Given the description of an element on the screen output the (x, y) to click on. 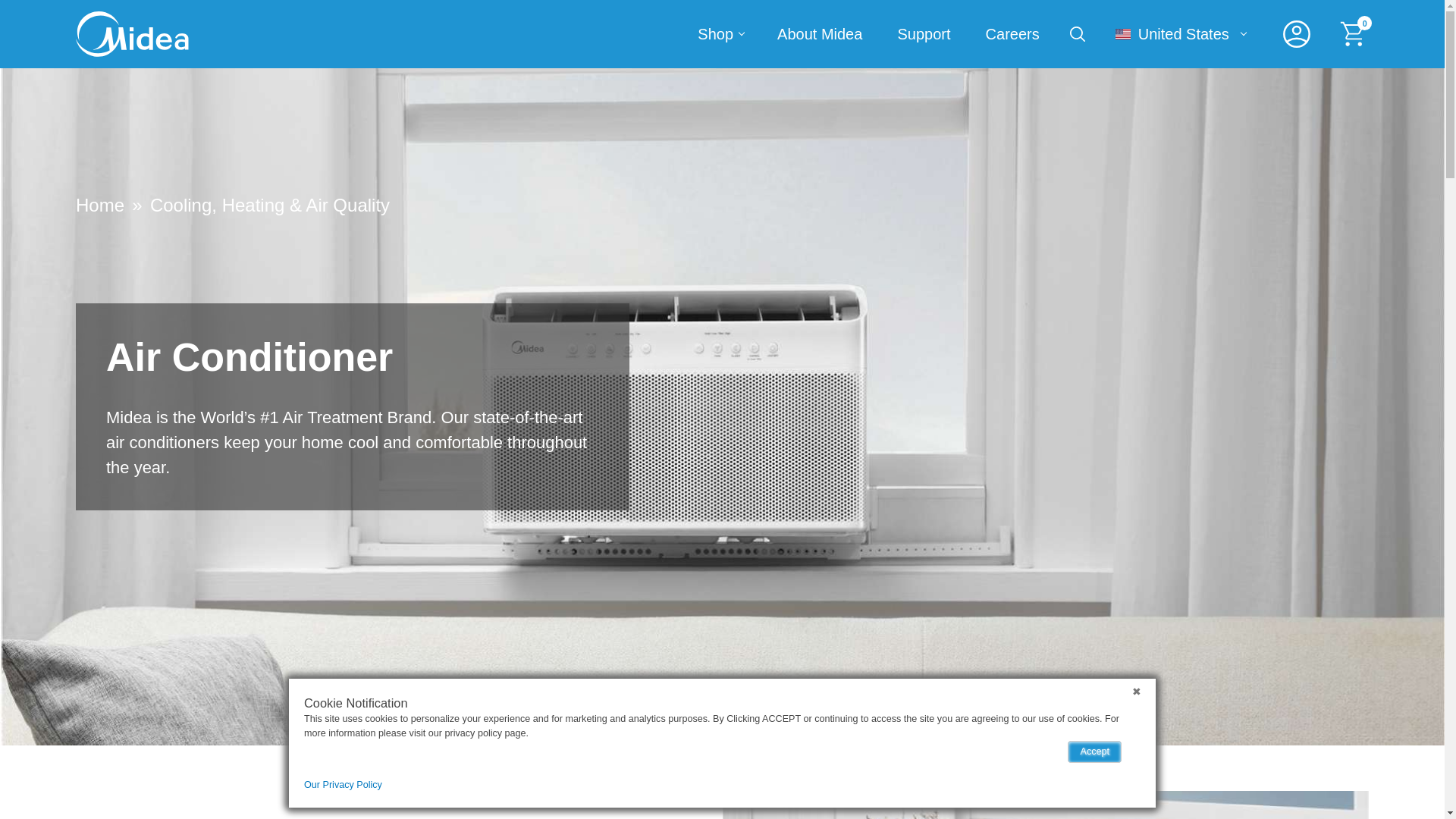
Home (99, 204)
Opens a widget where you can find more information (69, 792)
